Given the description of an element on the screen output the (x, y) to click on. 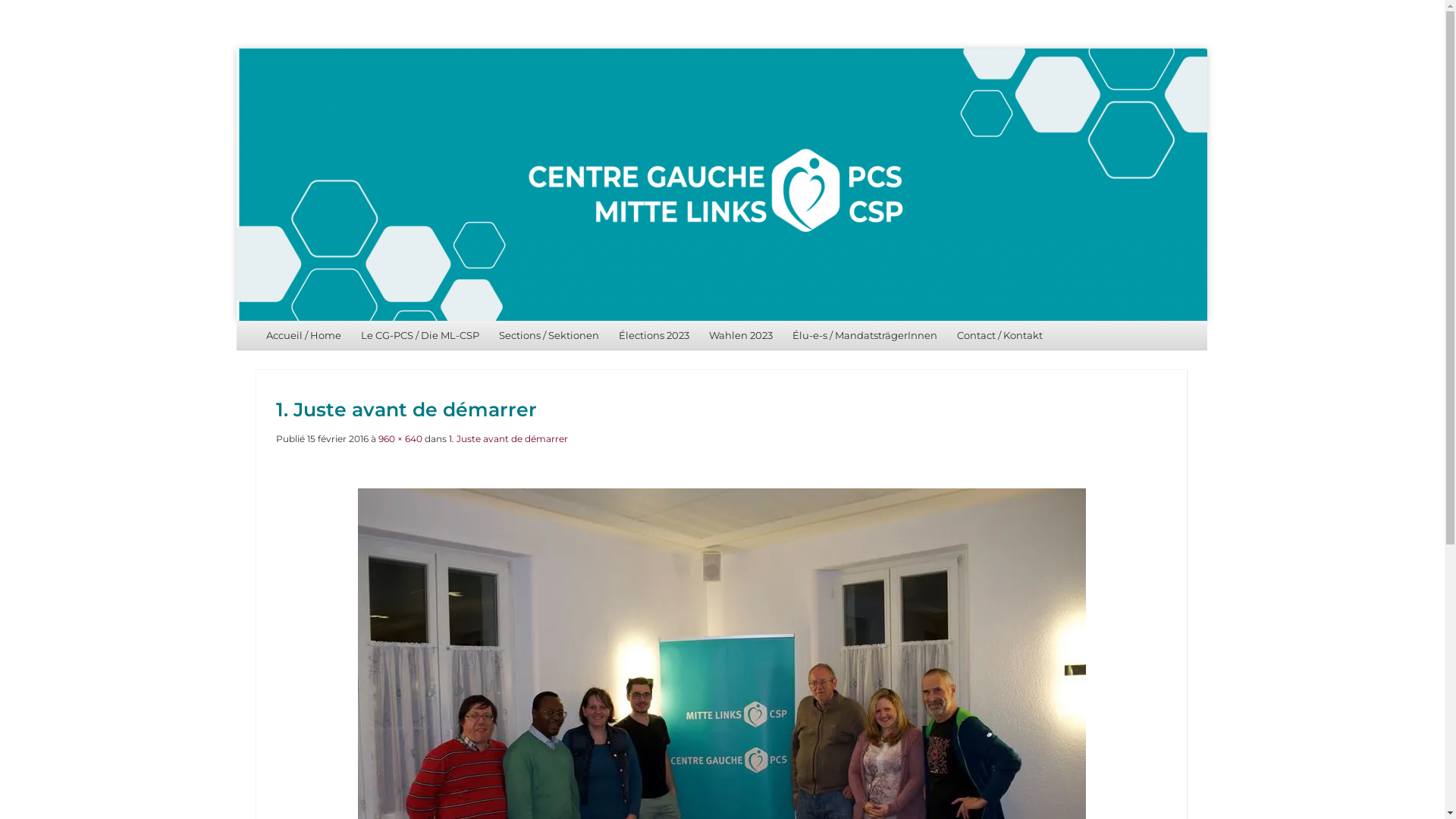
Wahlen 2023 Element type: text (740, 335)
Le CG-PCS / Die ML-CSP Element type: text (420, 335)
Accueil / Home Element type: text (303, 335)
Centre Gauche-PCS Fribourg / Mitte Links-CSP Freiburg Element type: text (431, 57)
Aller au contenu principal Element type: text (310, 335)
Sections / Sektionen Element type: text (548, 335)
Contact / Kontakt Element type: text (999, 335)
Centre Gauche-PCS Fribourg / Mitte Links-CSP Freiburg Element type: hover (721, 184)
